Given the description of an element on the screen output the (x, y) to click on. 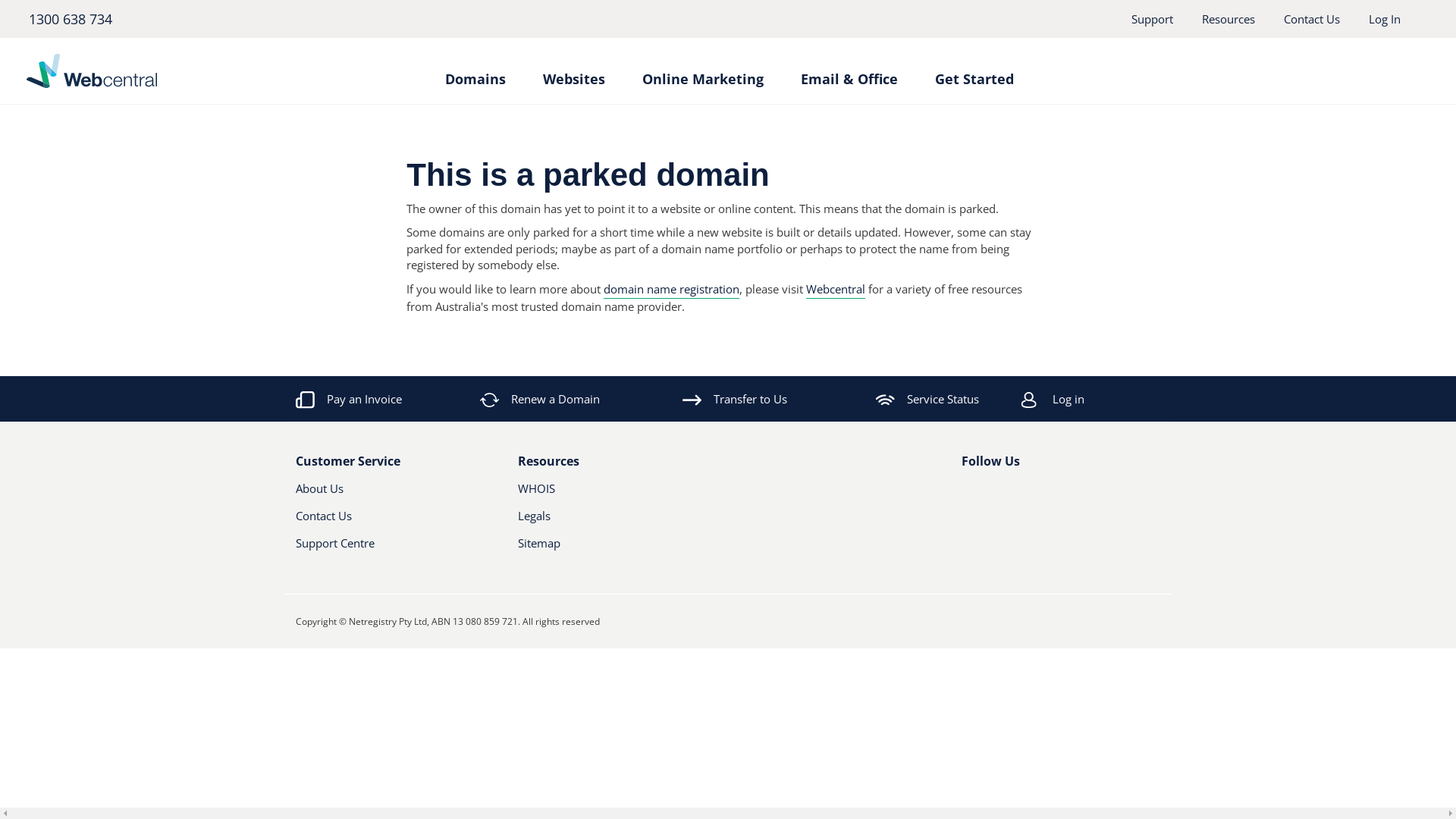
Log In Element type: text (1384, 18)
Renew a Domain Element type: text (540, 398)
Email & Office Element type: text (848, 71)
Online Marketing Element type: text (701, 71)
Get Started Element type: text (973, 71)
Webcentral Element type: text (835, 289)
Domains Element type: text (474, 71)
Webcentral Element type: hover (163, 70)
About Us Element type: text (379, 494)
Resources Element type: text (1228, 18)
Websites Element type: text (573, 71)
Sitemap Element type: text (616, 548)
domain name registration Element type: text (671, 289)
Twitter Element type: hover (993, 494)
1300 638 734 Element type: text (69, 18)
Youtube Element type: hover (1019, 494)
Pay an Invoice Element type: text (348, 398)
Log in Element type: text (1111, 398)
Contact Us Element type: text (1311, 18)
Service Status Element type: text (927, 398)
Support Element type: text (1152, 18)
RSS Element type: hover (1045, 494)
Transfer to Us Element type: text (734, 398)
Legals Element type: text (601, 521)
WHOIS Element type: text (601, 494)
Contact Us Element type: text (379, 521)
Support Centre Element type: text (395, 548)
Facebook Element type: hover (970, 494)
